Given the description of an element on the screen output the (x, y) to click on. 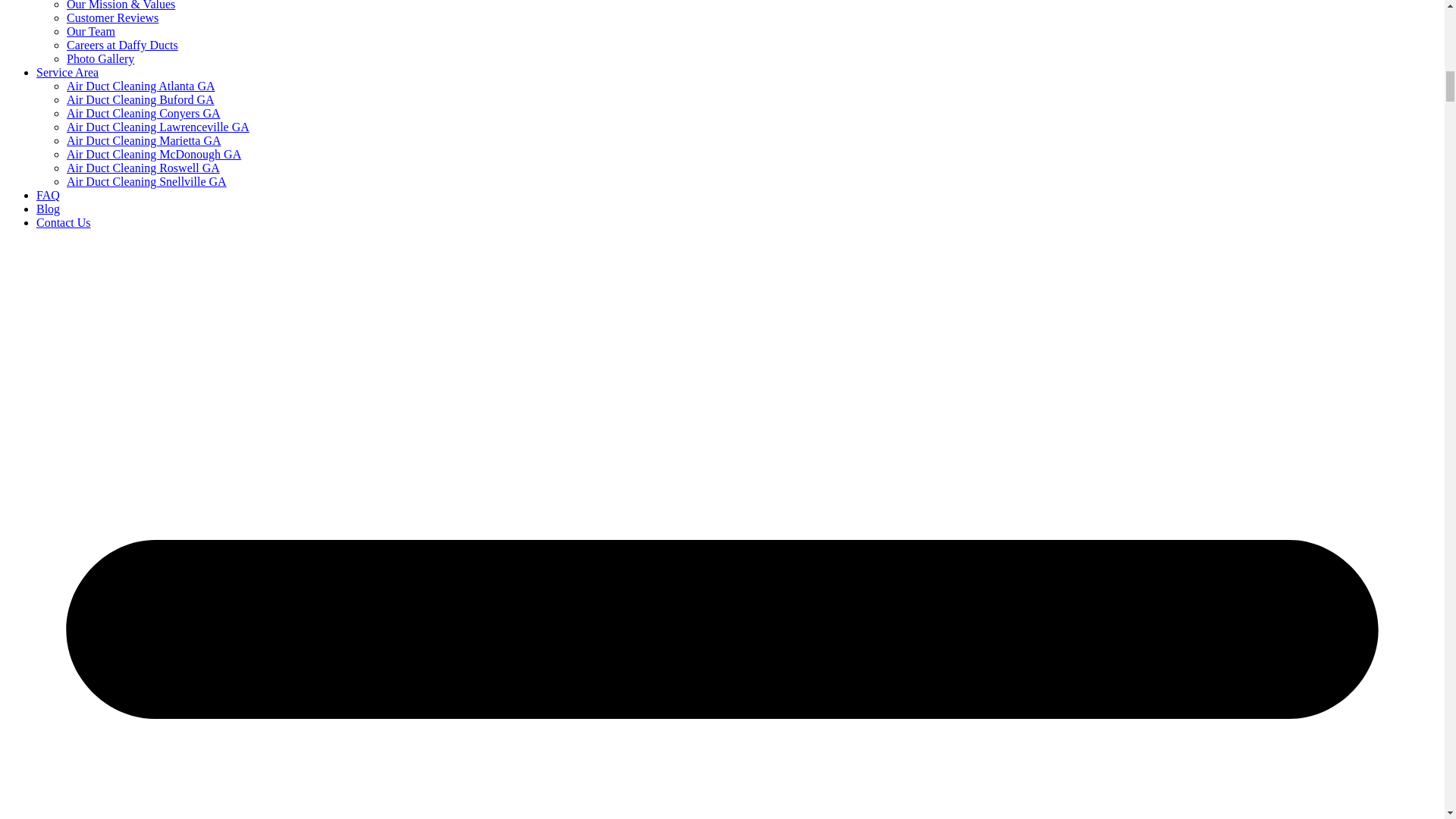
Air Duct Cleaning Roswell GA (142, 167)
Our Team (90, 31)
Air Duct Cleaning Conyers GA (143, 113)
Cities (67, 72)
Air Duct Cleaning Marietta GA (143, 140)
Careers at Daffy Ducts (121, 44)
Air Duct Cleaning Snellville GA (146, 181)
Air Duct Cleaning Atlanta GA (140, 85)
Photo Gallery (99, 58)
Contact Us (63, 222)
